Given the description of an element on the screen output the (x, y) to click on. 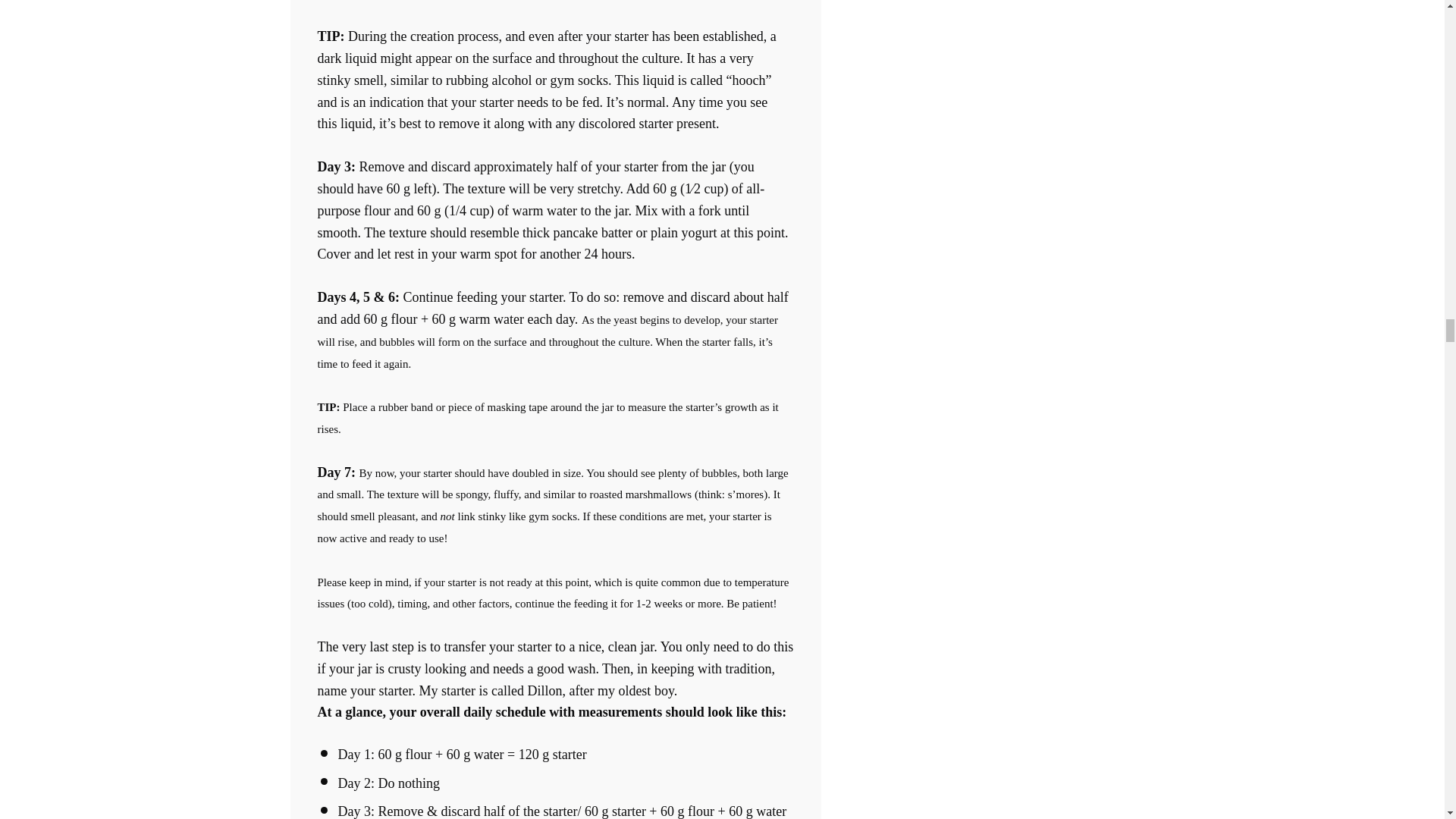
Page 8 (555, 625)
Page 8 (555, 559)
Page 8 (555, 504)
Page 8 (555, 329)
Page 8 (555, 450)
Page 8 (555, 668)
Page 8 (555, 417)
Page 8 (555, 592)
Page 8 (555, 384)
Page 8 (555, 760)
Page 8 (555, 570)
